Given the description of an element on the screen output the (x, y) to click on. 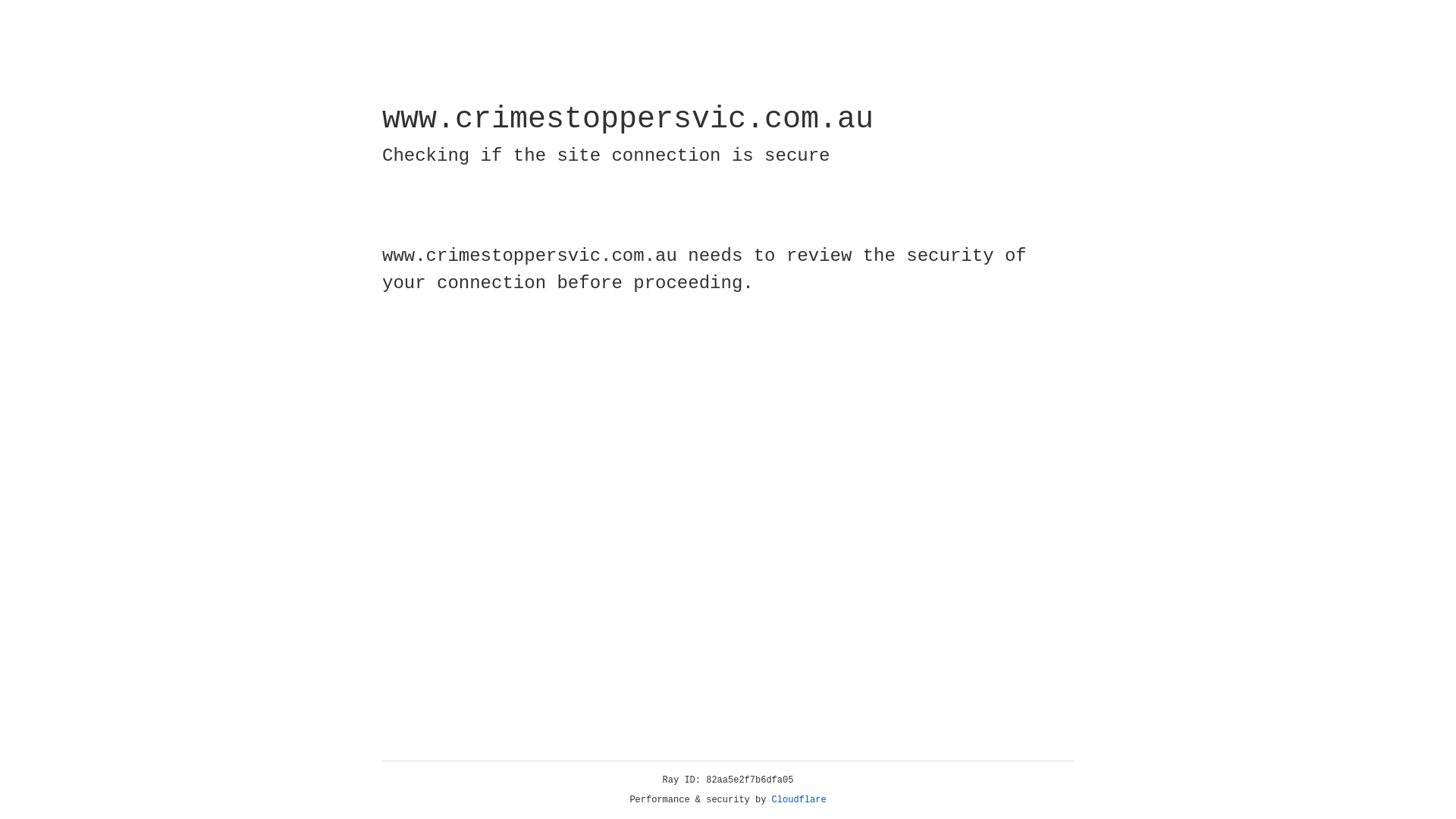
Cloudflare Element type: text (798, 799)
